Given the description of an element on the screen output the (x, y) to click on. 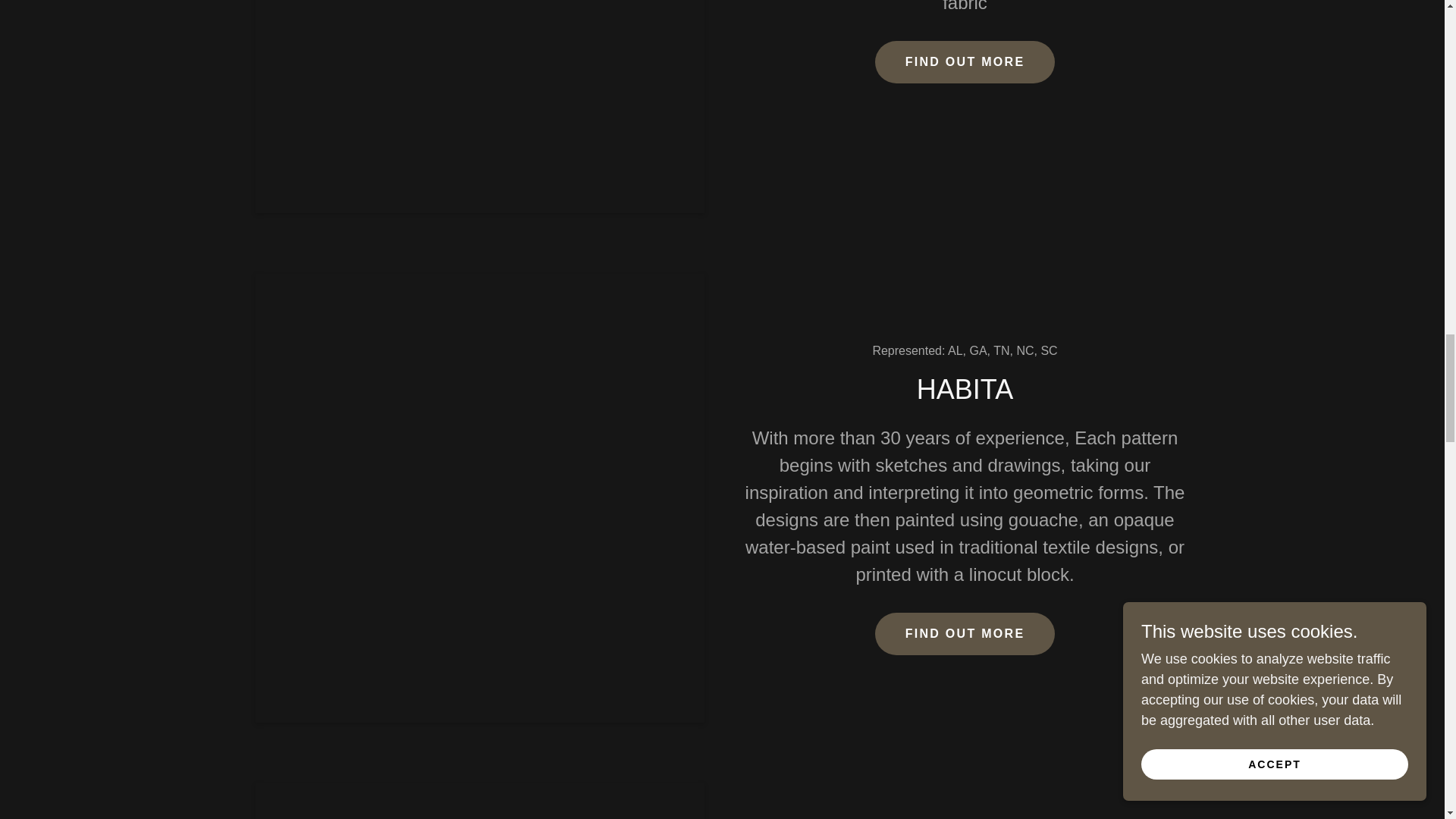
FIND OUT MORE (965, 633)
FIND OUT MORE (965, 61)
